Given the description of an element on the screen output the (x, y) to click on. 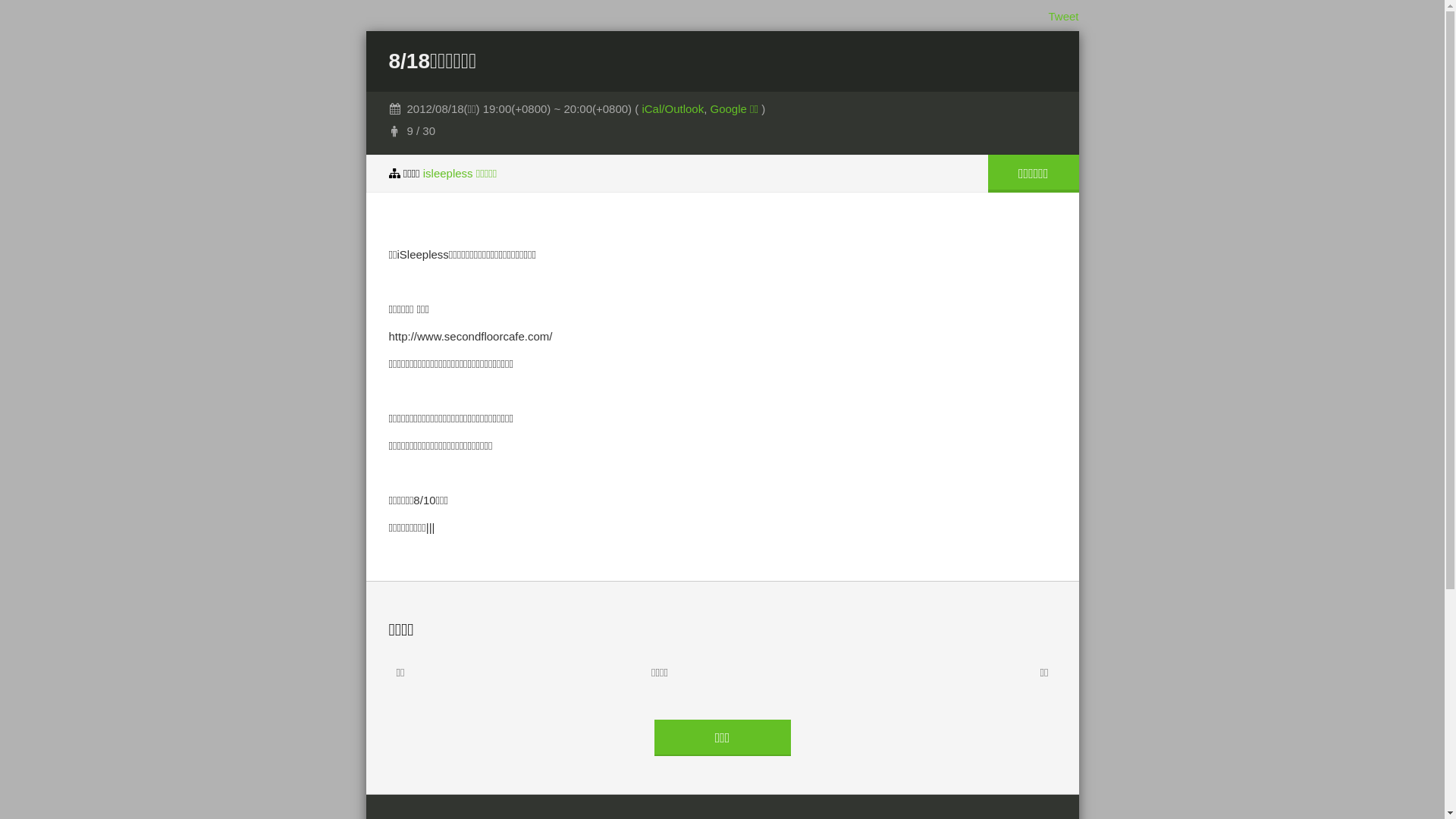
iCal/Outlook Element type: text (672, 108)
Tweet Element type: text (1063, 15)
